Given the description of an element on the screen output the (x, y) to click on. 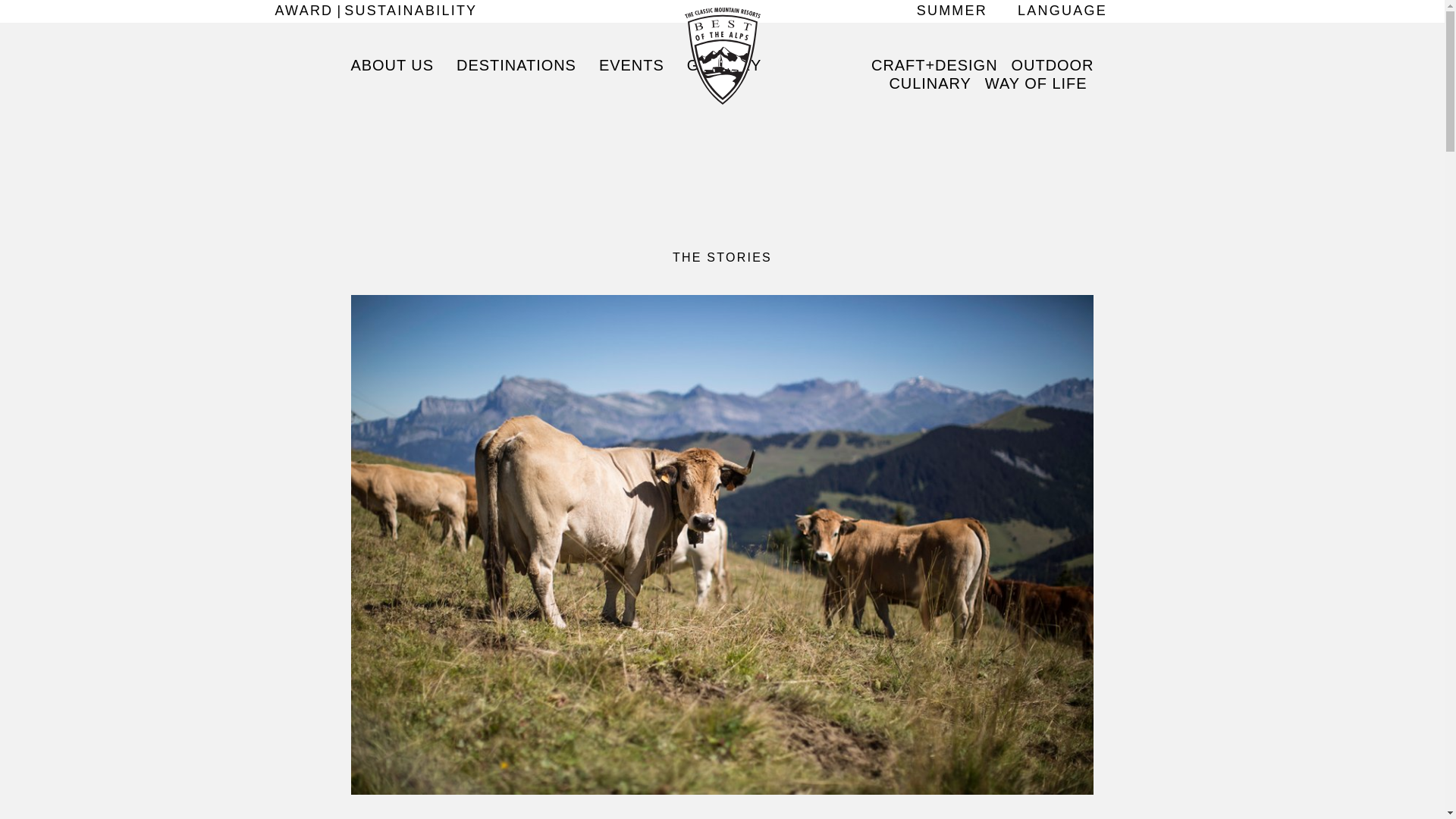
GALLERY (724, 64)
WAY OF LIFE (1036, 83)
OUTDOOR (1049, 64)
AWARD (308, 10)
LANGUAGE (1061, 10)
FACEBOOK (1142, 10)
ABOUT US (397, 64)
EVENTS (631, 64)
INSTAGRAM (1161, 10)
DESTINATIONS (516, 64)
